Given the description of an element on the screen output the (x, y) to click on. 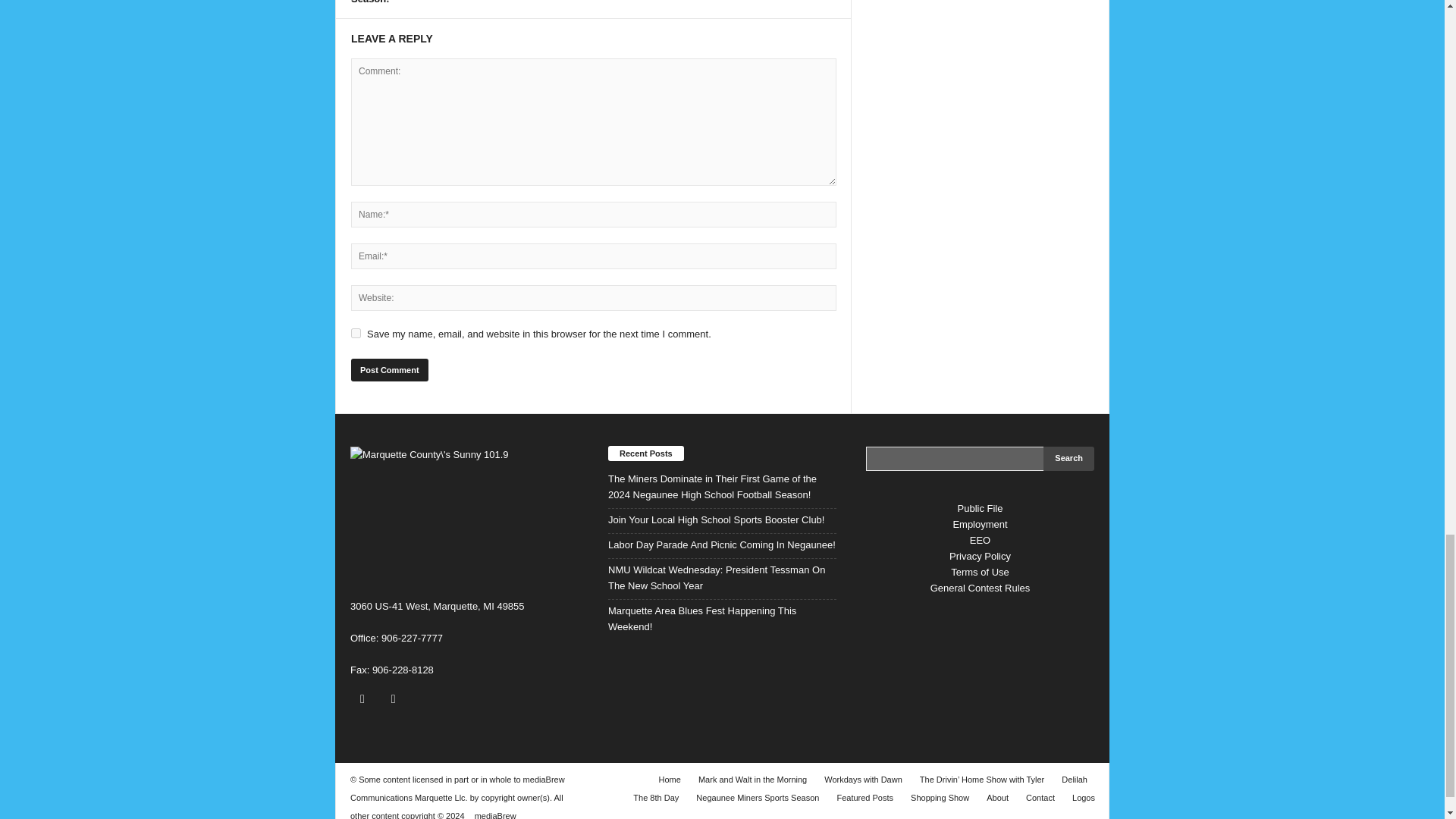
Search (1068, 458)
Post Comment (389, 369)
yes (355, 333)
